Given the description of an element on the screen output the (x, y) to click on. 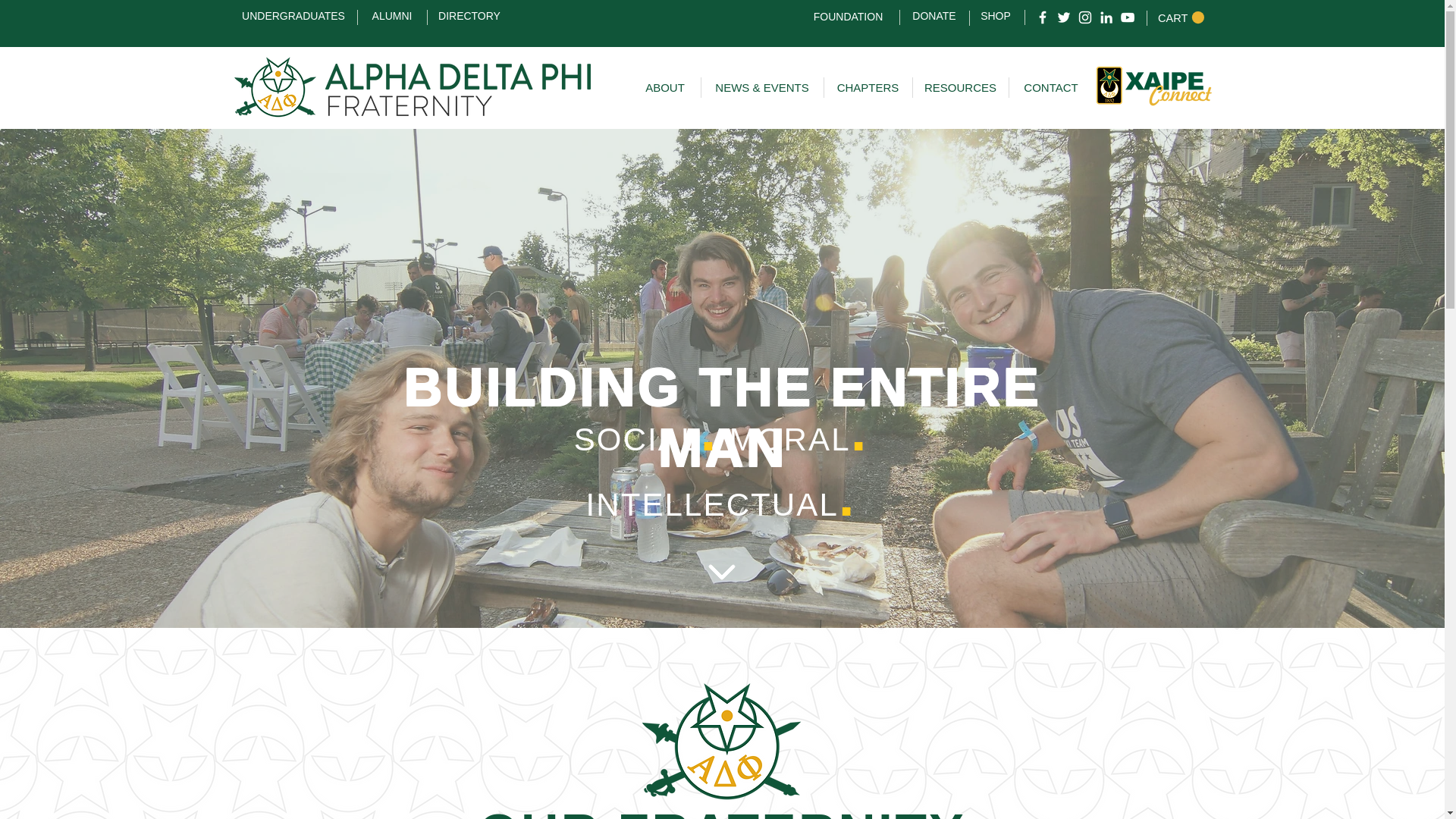
DONATE (933, 15)
CART (1180, 17)
DIRECTORY (469, 15)
CART (1180, 17)
FOUNDATION (848, 16)
SHOP (994, 15)
ALUMNI (392, 15)
UNDERGRADUATES (293, 15)
